Given the description of an element on the screen output the (x, y) to click on. 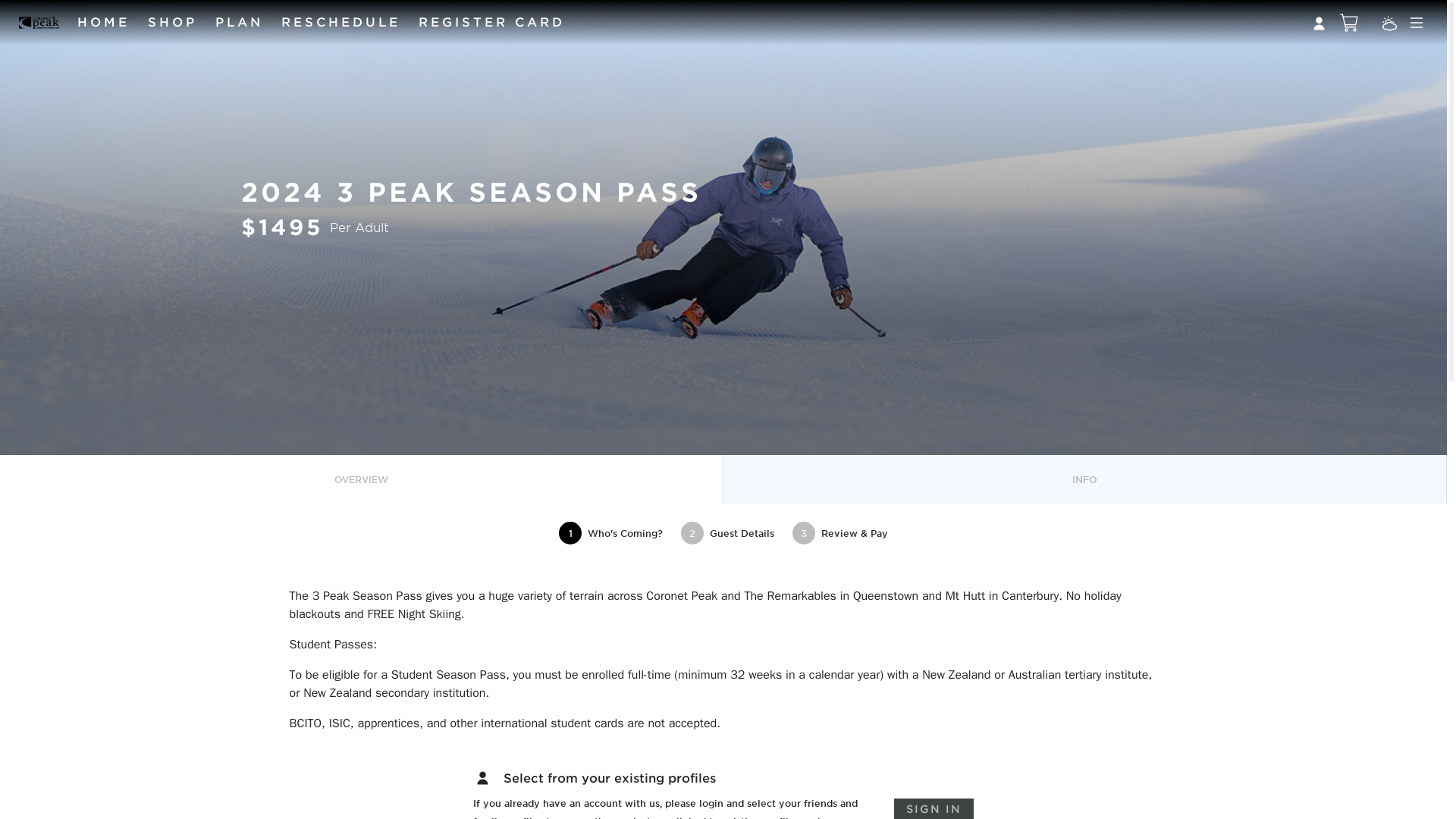
PLAN (239, 22)
SIGN IN (933, 808)
REGISTER CARD (491, 22)
SHOP (172, 22)
2 (692, 532)
HOME (103, 22)
3 (803, 532)
OVERVIEW (361, 479)
1 (569, 532)
RESCHEDULE (340, 22)
